Given the description of an element on the screen output the (x, y) to click on. 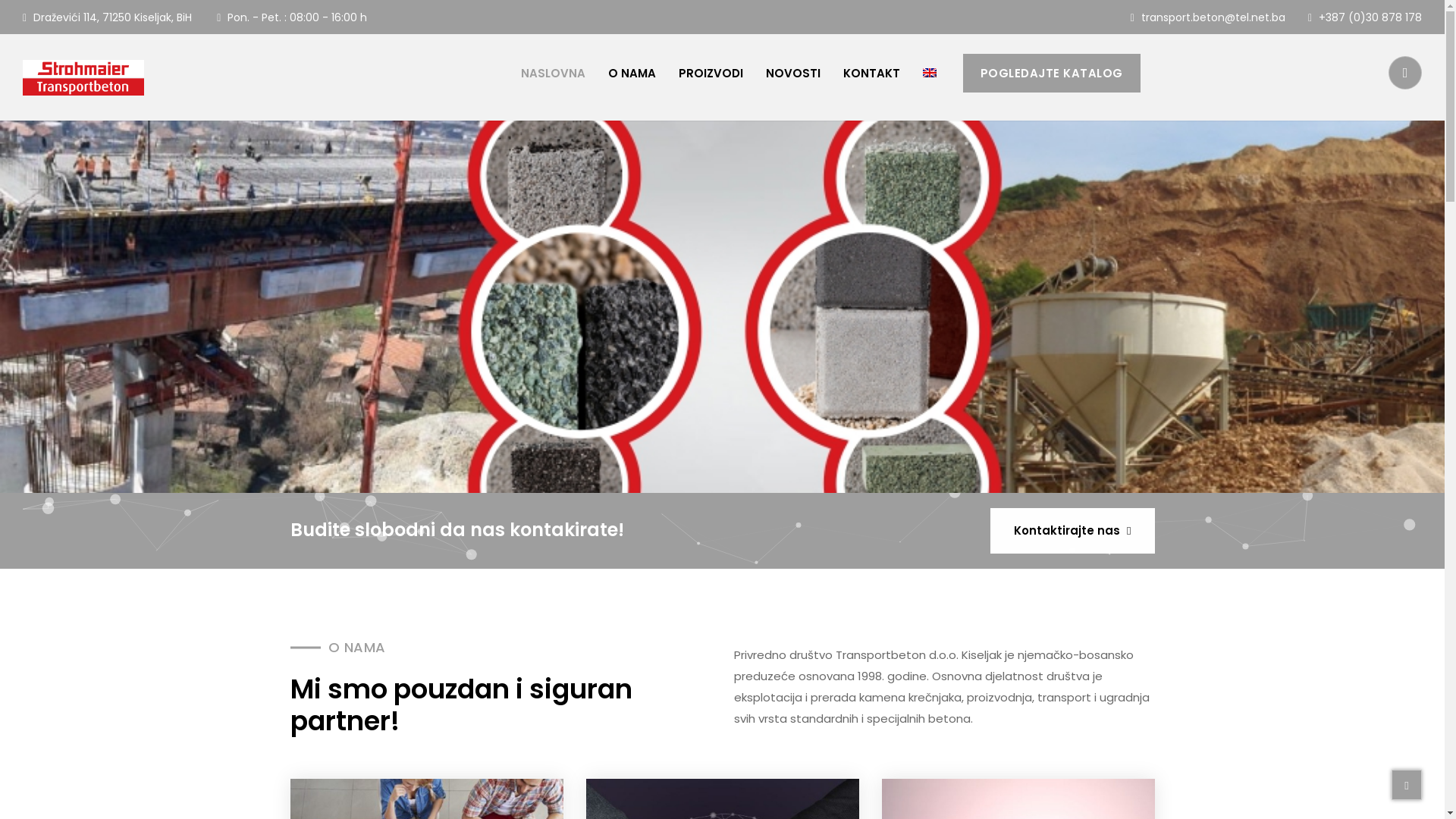
O NAMA Element type: text (631, 73)
transport.beton@tel.net.ba Element type: text (1207, 17)
KONTAKT Element type: text (871, 73)
POGLEDAJTE KATALOG Element type: text (1051, 72)
NOVOSTI Element type: text (792, 73)
NASLOVNA Element type: text (552, 73)
+387 (0)30 878 178 Element type: text (1364, 17)
PROIZVODI Element type: text (710, 73)
Kontaktirajte nas Element type: text (1072, 530)
